Given the description of an element on the screen output the (x, y) to click on. 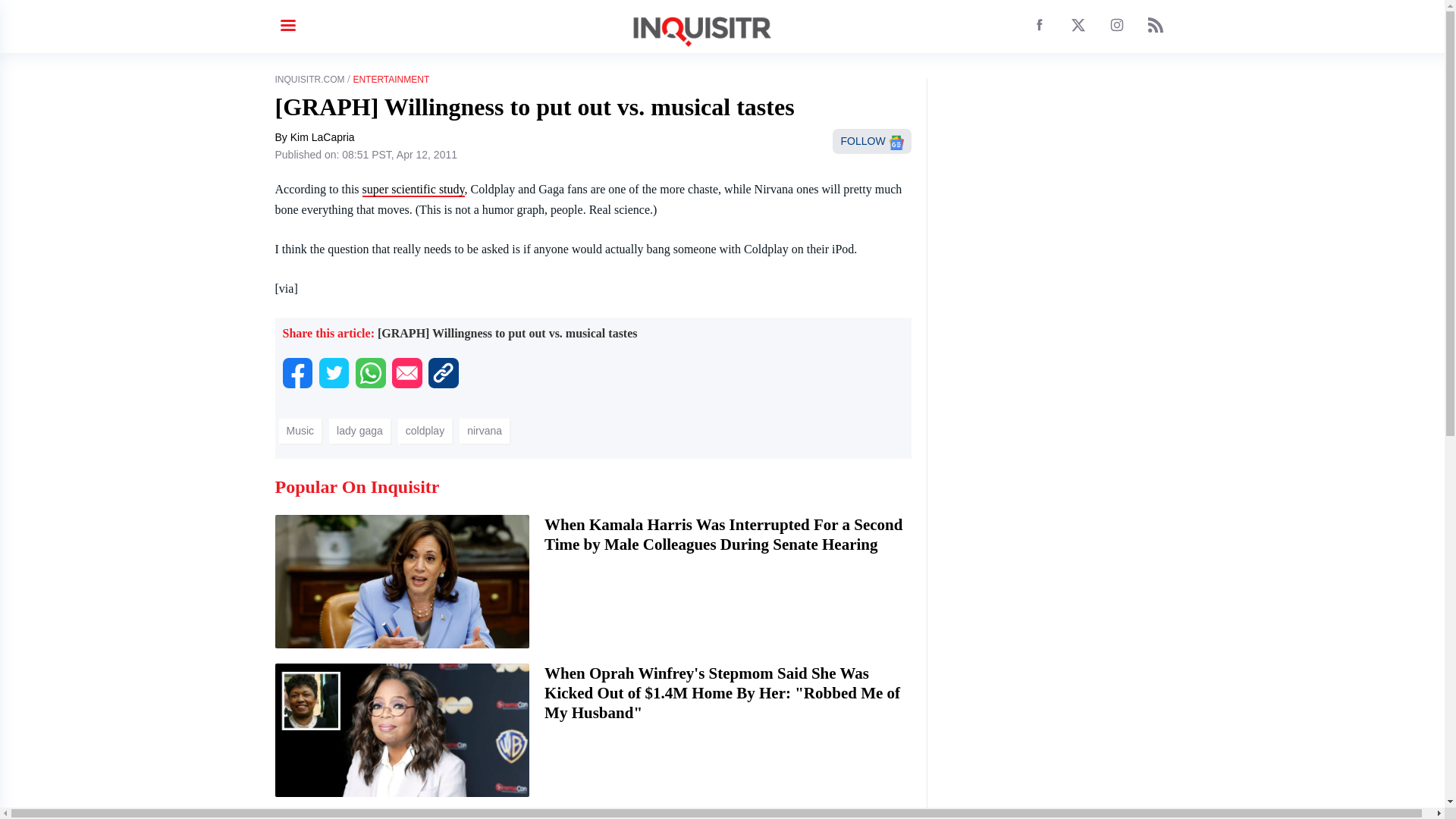
ENTERTAINMENT (390, 79)
INQUISITR.COM (309, 79)
